Given the description of an element on the screen output the (x, y) to click on. 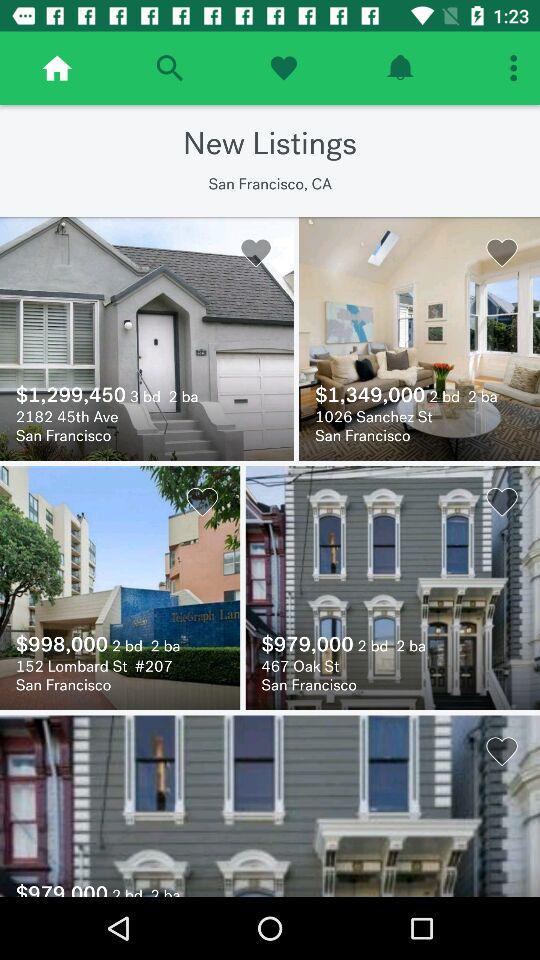
access main page (57, 68)
